Given the description of an element on the screen output the (x, y) to click on. 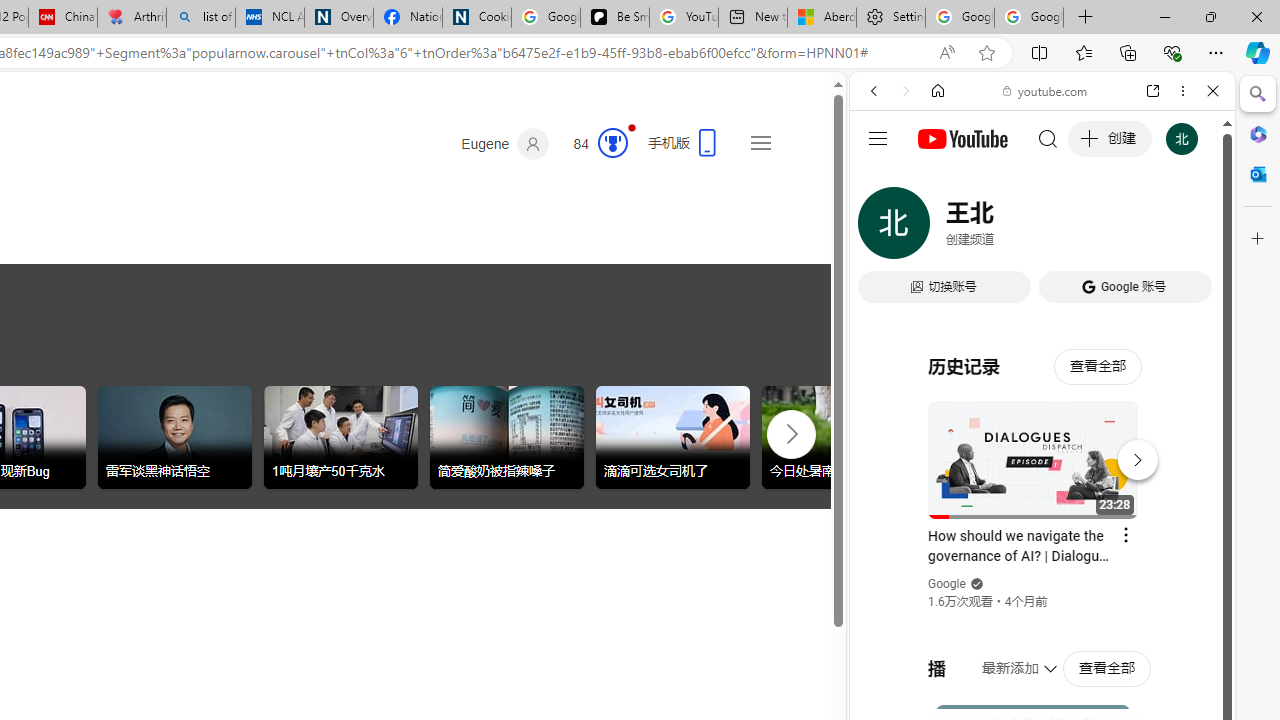
Search Filter, IMAGES (939, 228)
AutomationID: rh_meter (612, 142)
Google (947, 584)
Preferences (1189, 228)
AutomationID: serp_medal_svg (612, 142)
Web scope (882, 180)
